Given the description of an element on the screen output the (x, y) to click on. 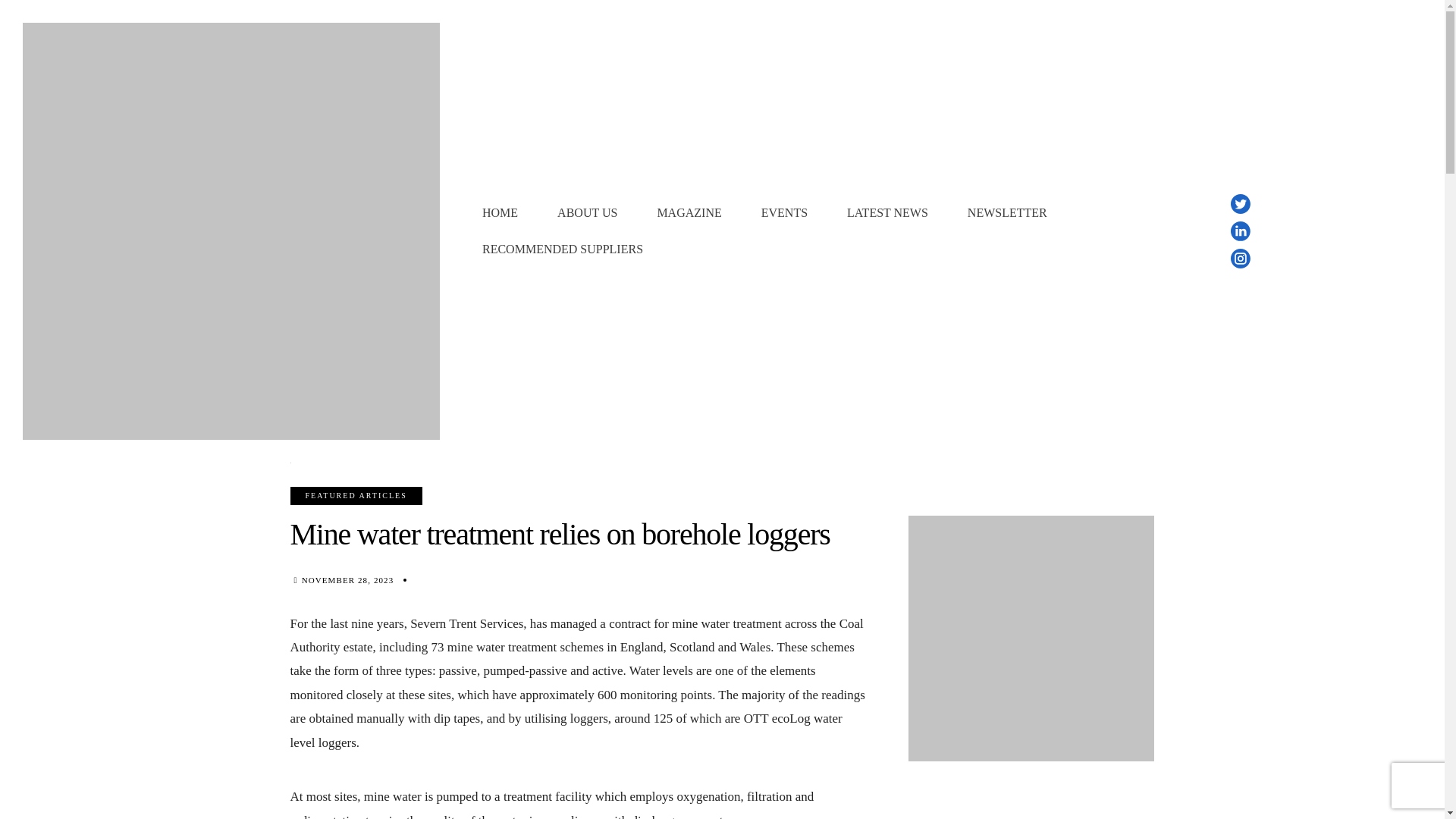
HOME (500, 212)
Linkedin (1240, 230)
MAGAZINE (689, 212)
LATEST NEWS (887, 212)
NEWSLETTER (1007, 212)
EVENTS (784, 212)
ABOUT US (587, 212)
Instagram (1240, 258)
Twitter (1240, 203)
